Given the description of an element on the screen output the (x, y) to click on. 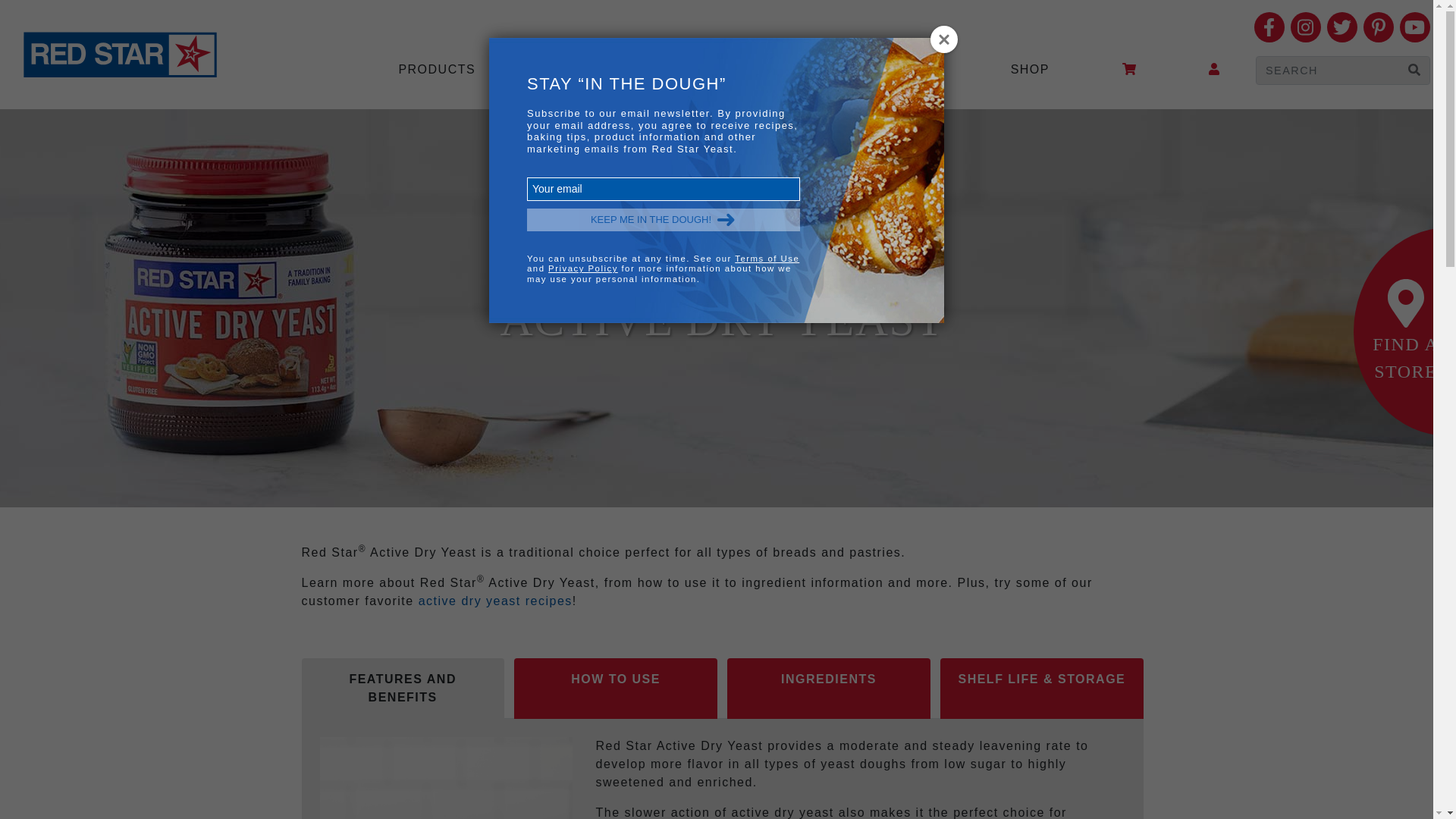
RECIPES (579, 69)
Pinterest (1377, 27)
Youtube (1414, 27)
PRODUCTS (436, 69)
BAKING RESOURCES (754, 69)
Twitter (1341, 27)
Facebook (1268, 27)
Instagram (1305, 27)
BLOG (918, 69)
